Given the description of an element on the screen output the (x, y) to click on. 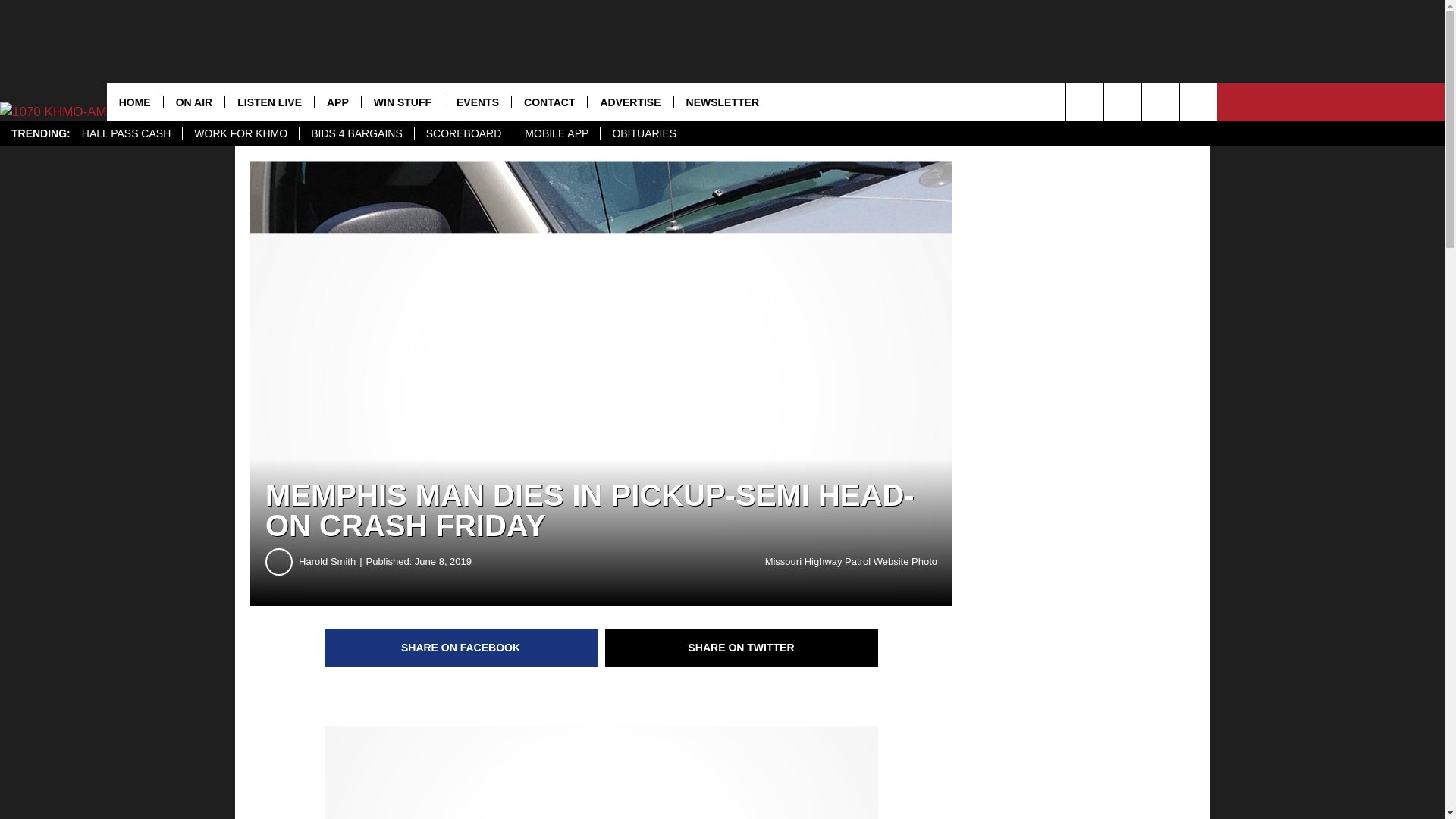
ADVERTISE (629, 102)
Share on Twitter (741, 647)
HOME (134, 102)
LISTEN LIVE (269, 102)
HALL PASS CASH (126, 133)
CONTACT (548, 102)
EVENTS (477, 102)
APP (337, 102)
ON AIR (193, 102)
WIN STUFF (402, 102)
